Given the description of an element on the screen output the (x, y) to click on. 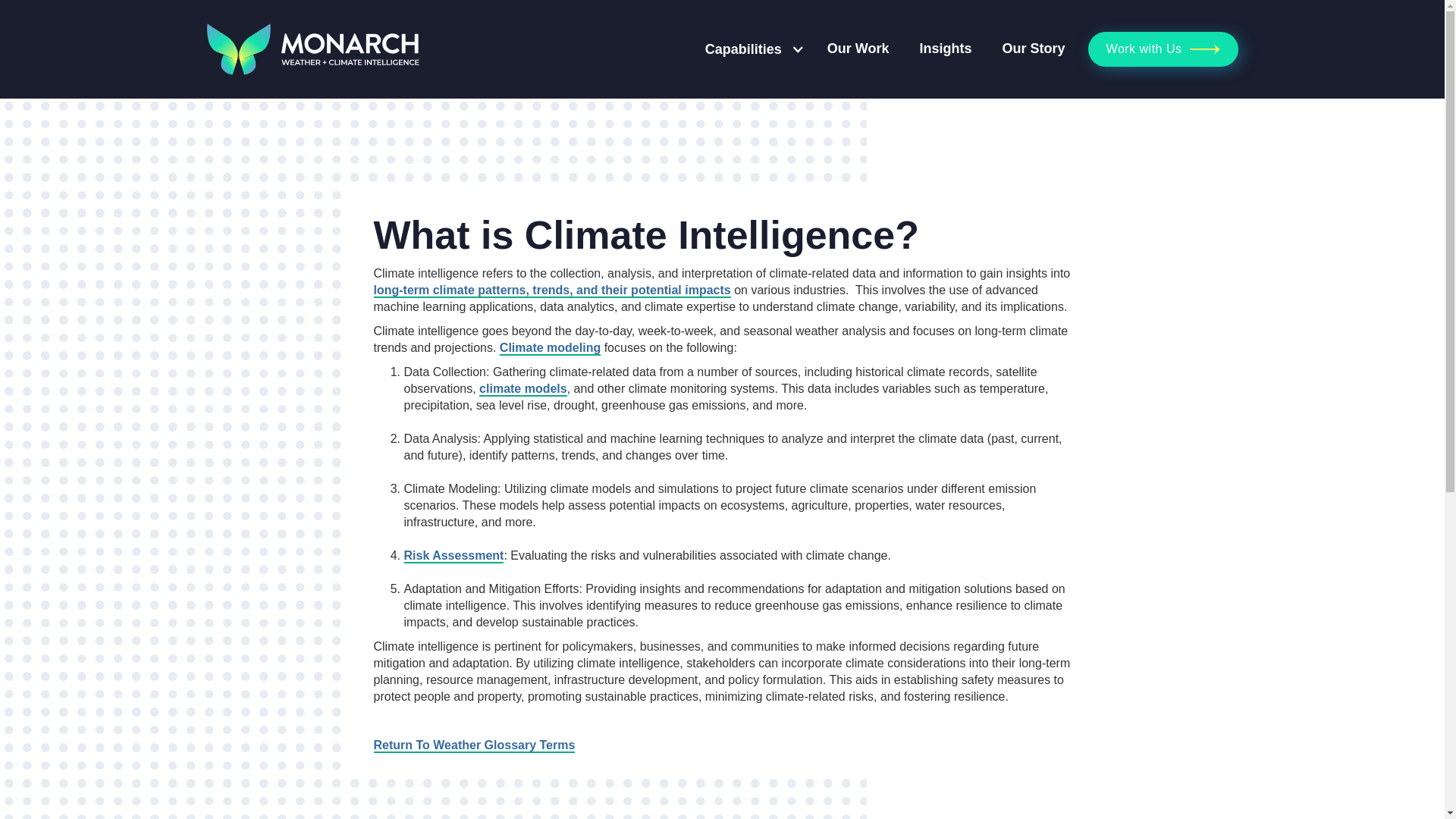
Climate modeling (549, 348)
Our Work (858, 48)
Work with Us (1163, 48)
Return To Weather Glossary Terms (473, 745)
Our Story (1034, 48)
Capabilities (742, 49)
Insights (946, 48)
Risk Assessment (453, 555)
climate models (523, 389)
